Given the description of an element on the screen output the (x, y) to click on. 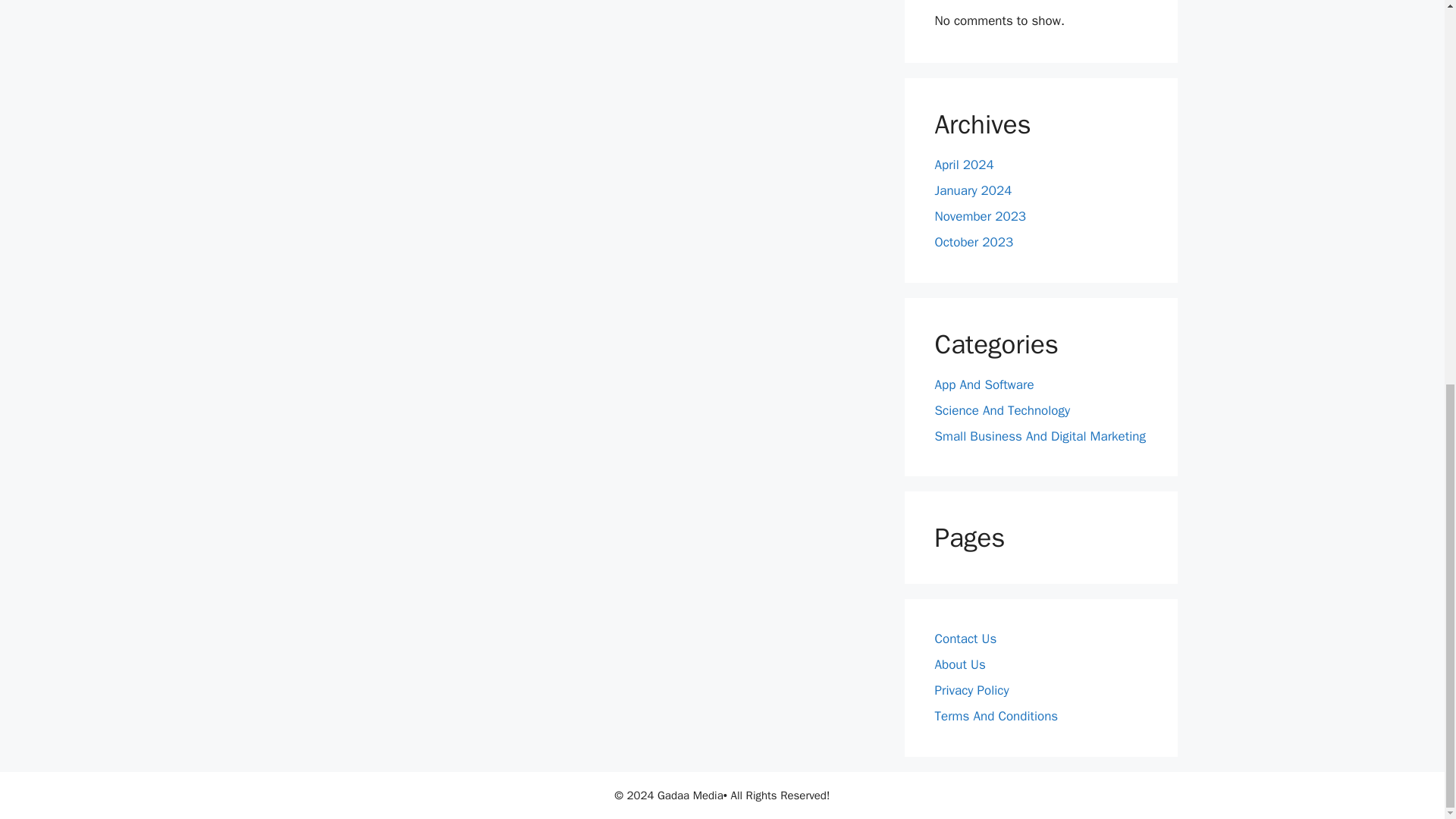
January 2024 (972, 190)
App And Software (983, 384)
November 2023 (980, 216)
October 2023 (973, 242)
Science And Technology (1002, 410)
Terms And Conditions (996, 715)
Small Business And Digital Marketing (1039, 436)
Contact Us (964, 638)
April 2024 (963, 164)
About Us (959, 664)
Privacy Policy (971, 690)
